Given the description of an element on the screen output the (x, y) to click on. 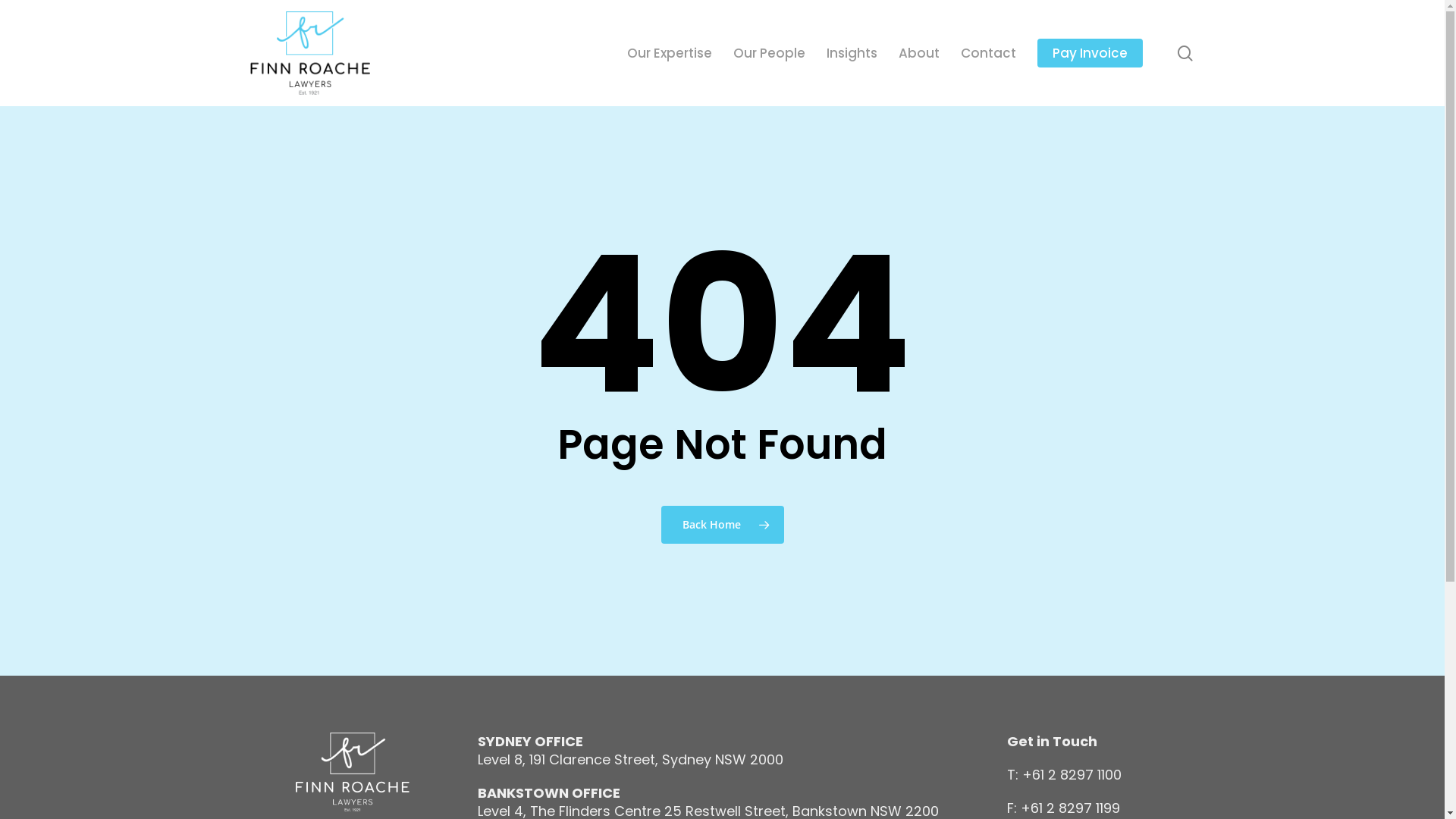
Contact Element type: text (988, 52)
Our People Element type: text (768, 52)
search Element type: text (1185, 53)
About Element type: text (919, 52)
Back Home Element type: text (722, 523)
Our Expertise Element type: text (669, 52)
T: +61 2 8297 1100 Element type: text (1064, 774)
Pay Invoice Element type: text (1089, 52)
Insights Element type: text (851, 52)
